Given the description of an element on the screen output the (x, y) to click on. 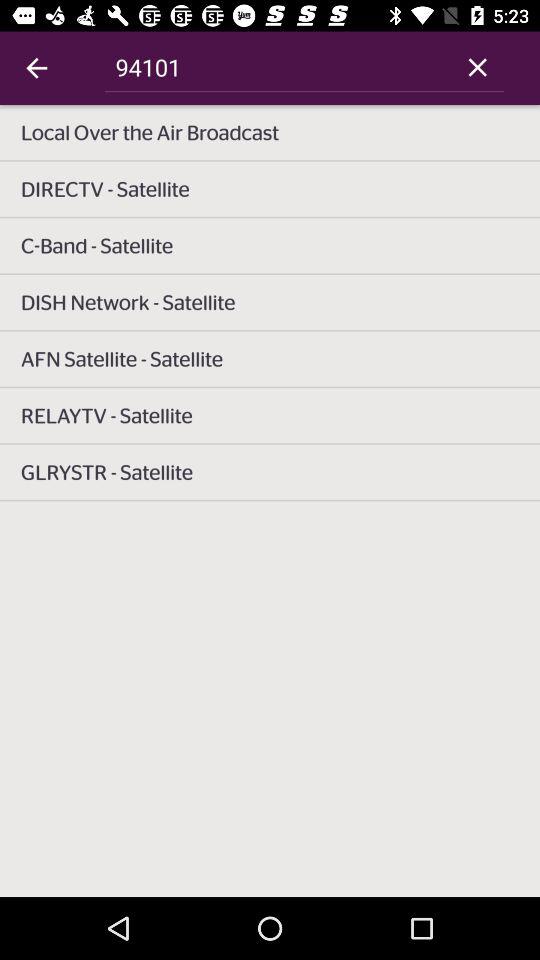
launch item above local over the (278, 67)
